Given the description of an element on the screen output the (x, y) to click on. 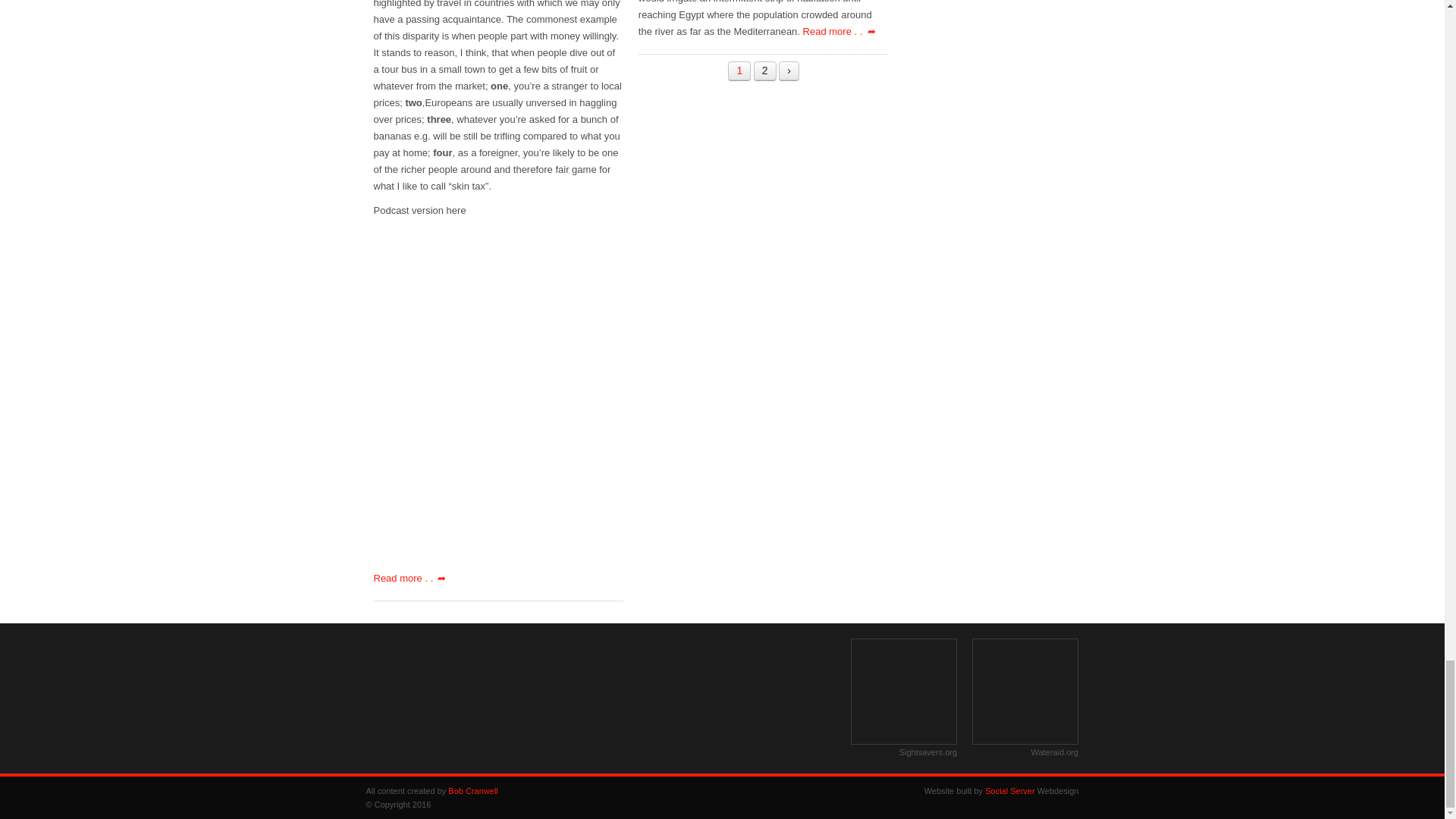
Sightsavers logo (903, 691)
Wikipedia (782, 696)
Everybody is a Ragged University (661, 691)
Greenpeace (539, 691)
wateraid (1025, 691)
